Given the description of an element on the screen output the (x, y) to click on. 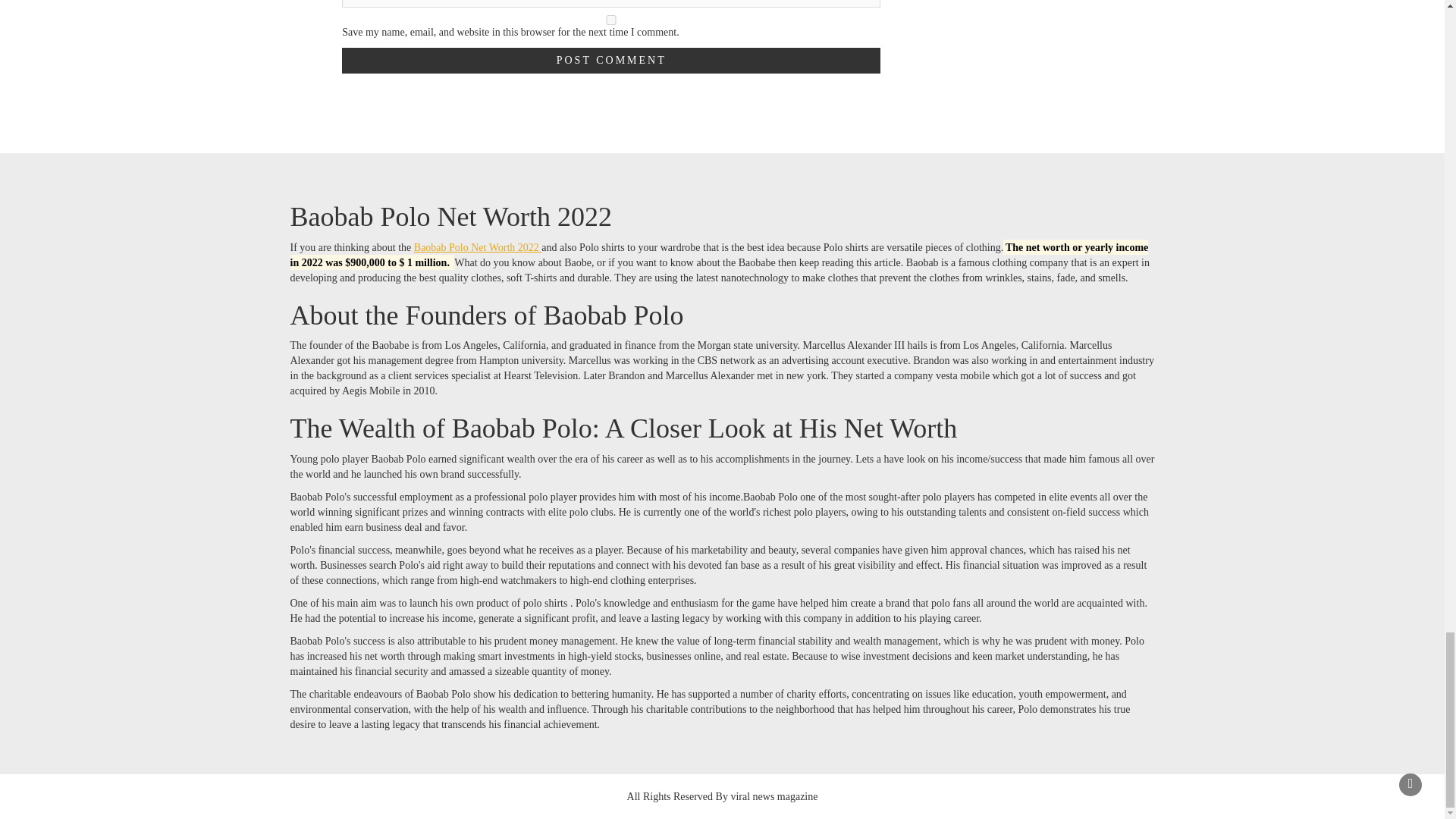
Post Comment (611, 60)
Post Comment (611, 60)
yes (611, 20)
